Given the description of an element on the screen output the (x, y) to click on. 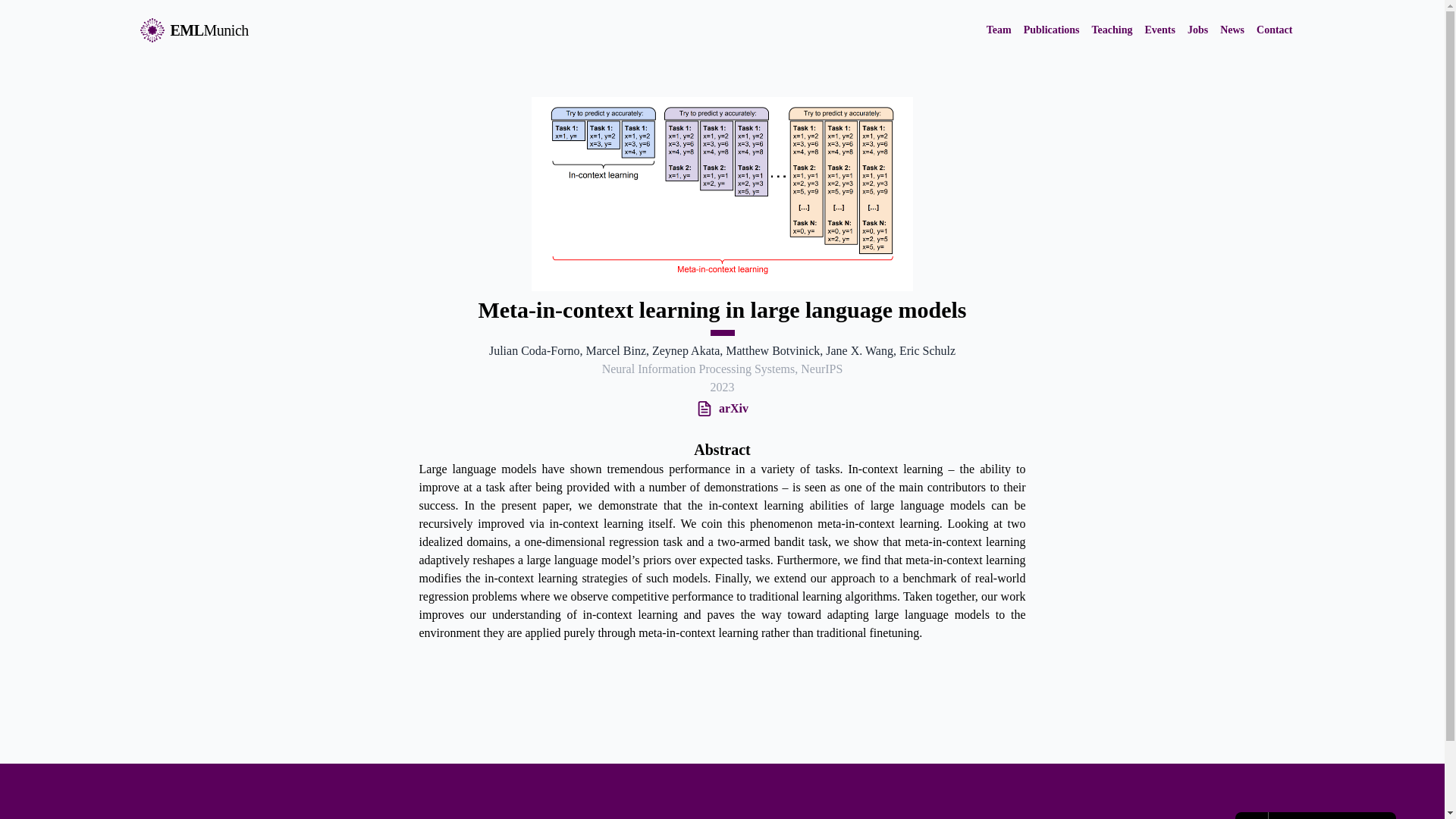
arXiv (730, 408)
News (1232, 29)
Teaching (1112, 29)
Team (999, 29)
Jobs (1198, 29)
Events (1159, 29)
Contact (1274, 29)
EMLMunich (193, 30)
Publications (1051, 29)
